Given the description of an element on the screen output the (x, y) to click on. 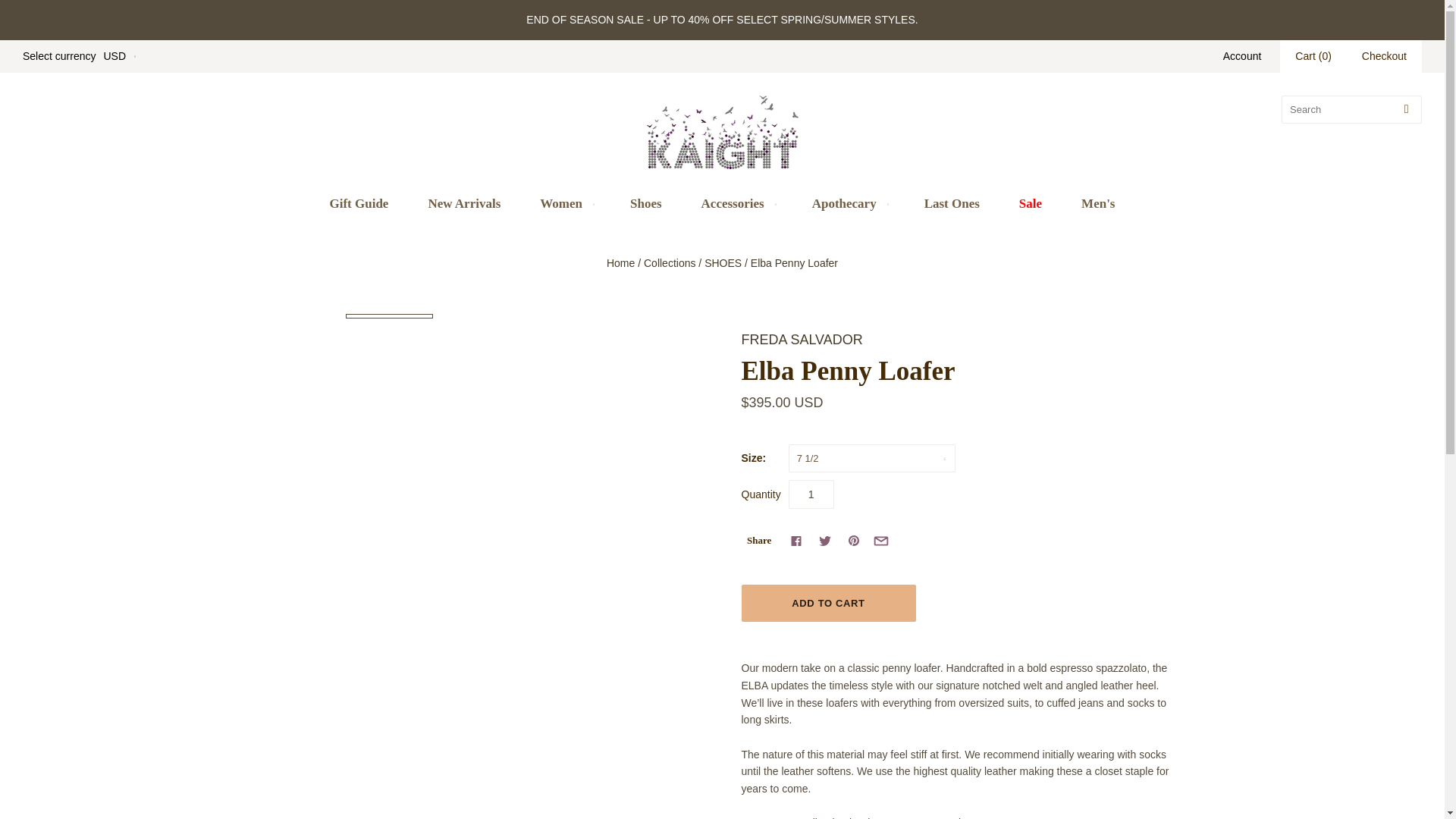
Home (620, 263)
Last Ones (951, 203)
Sale (1029, 203)
1 (811, 493)
Shoes (645, 203)
Accessories (736, 203)
Men's (1097, 203)
Collections (669, 263)
New Arrivals (463, 203)
Checkout (1384, 56)
Women (564, 203)
Apothecary (848, 203)
Account (1242, 55)
Add to cart (828, 602)
Gift Guide (357, 203)
